Given the description of an element on the screen output the (x, y) to click on. 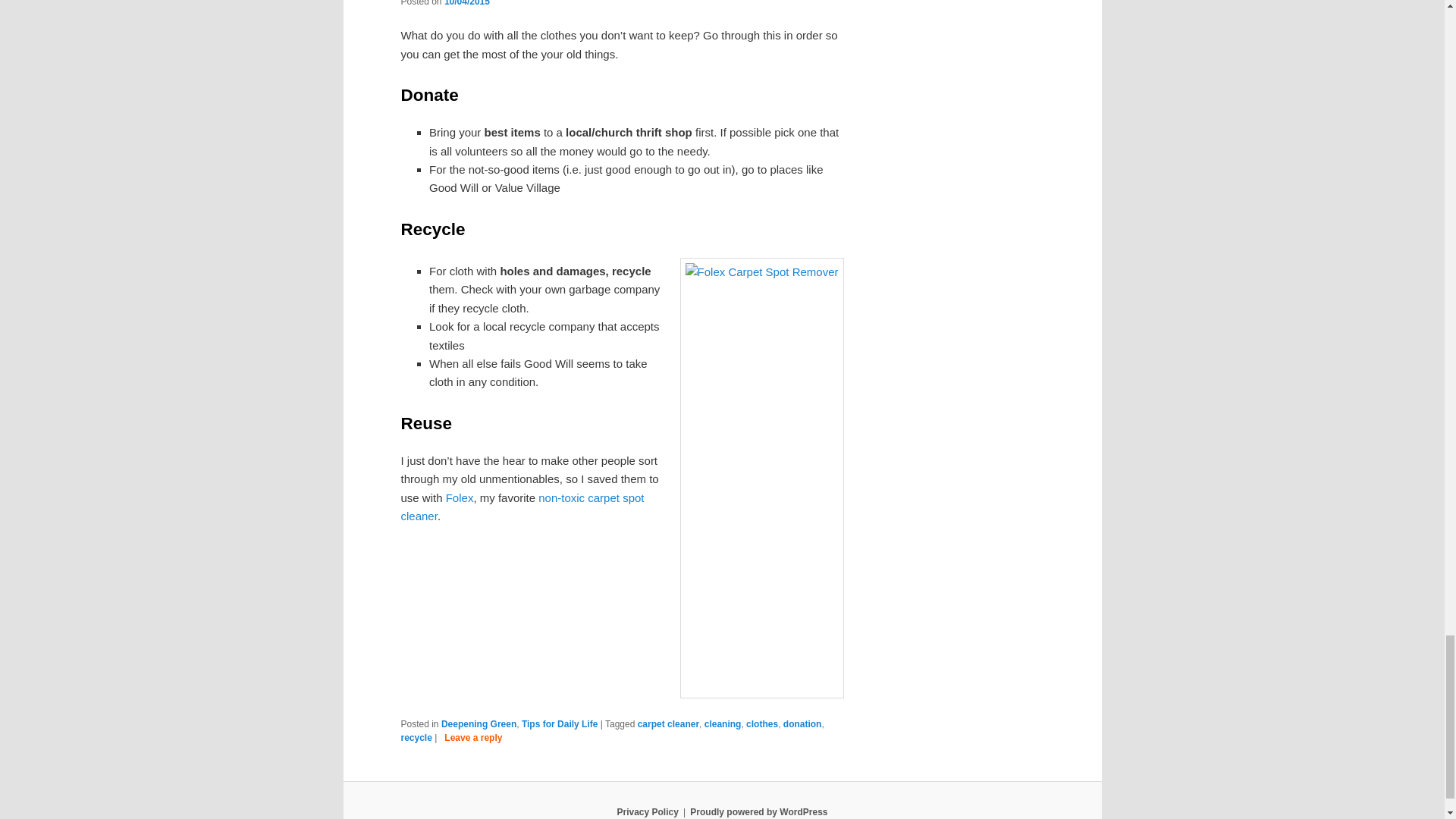
Folex carpet cleaner on Amazon (459, 497)
Semantic Personal Publishing Platform (758, 811)
Folex carpet cleaner on Amazon (521, 506)
10:07 pm (466, 3)
